Given the description of an element on the screen output the (x, y) to click on. 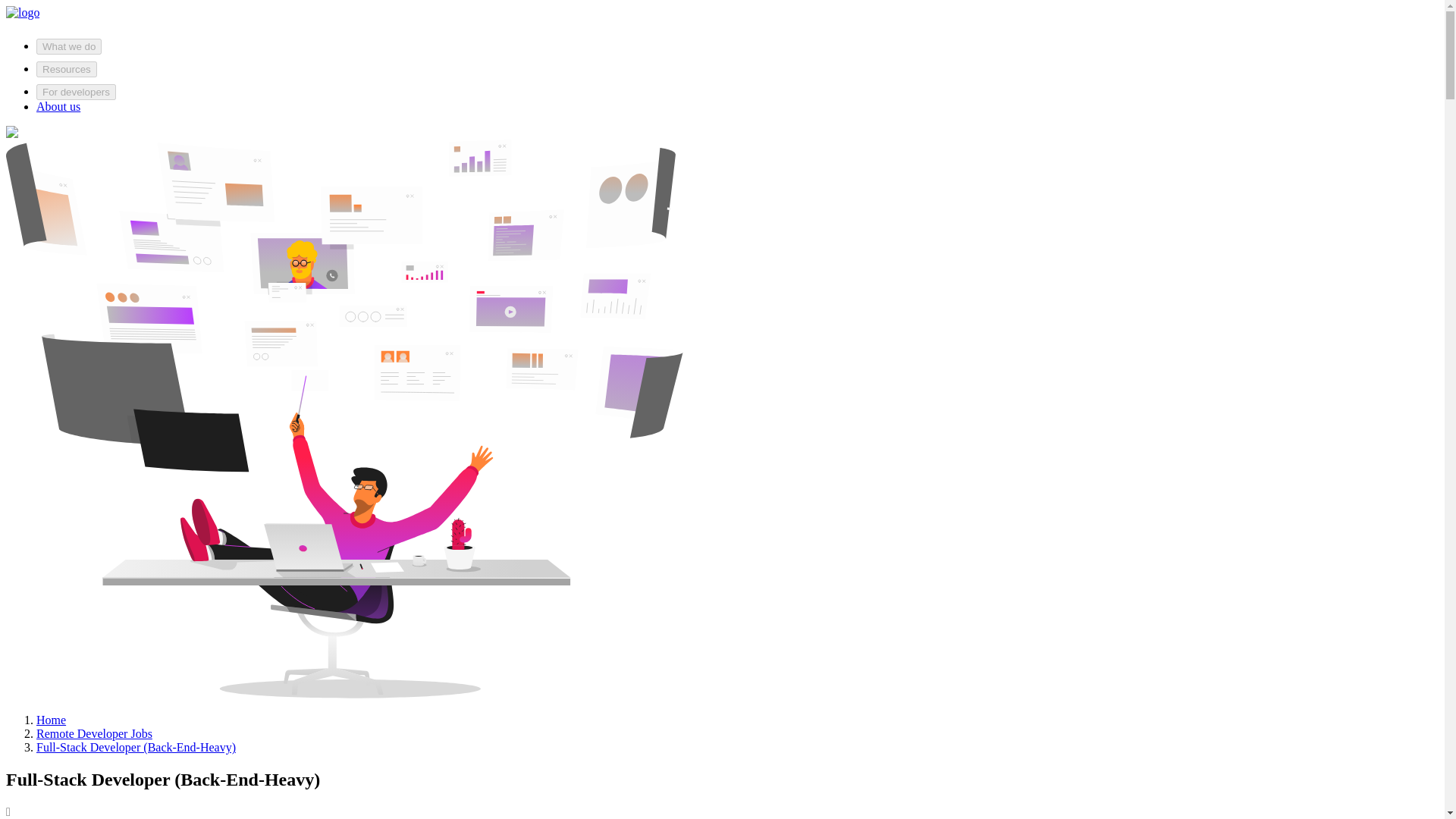
Resources (66, 68)
For developers (76, 91)
About us (58, 106)
Home (50, 719)
What we do (68, 46)
Remote Developer Jobs (94, 733)
